Given the description of an element on the screen output the (x, y) to click on. 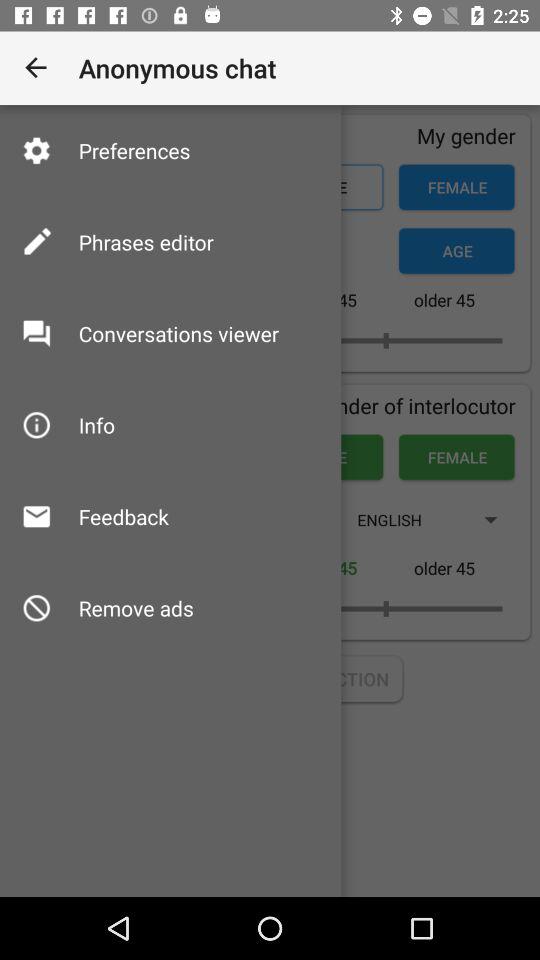
turn off the conversations viewer (178, 333)
